Given the description of an element on the screen output the (x, y) to click on. 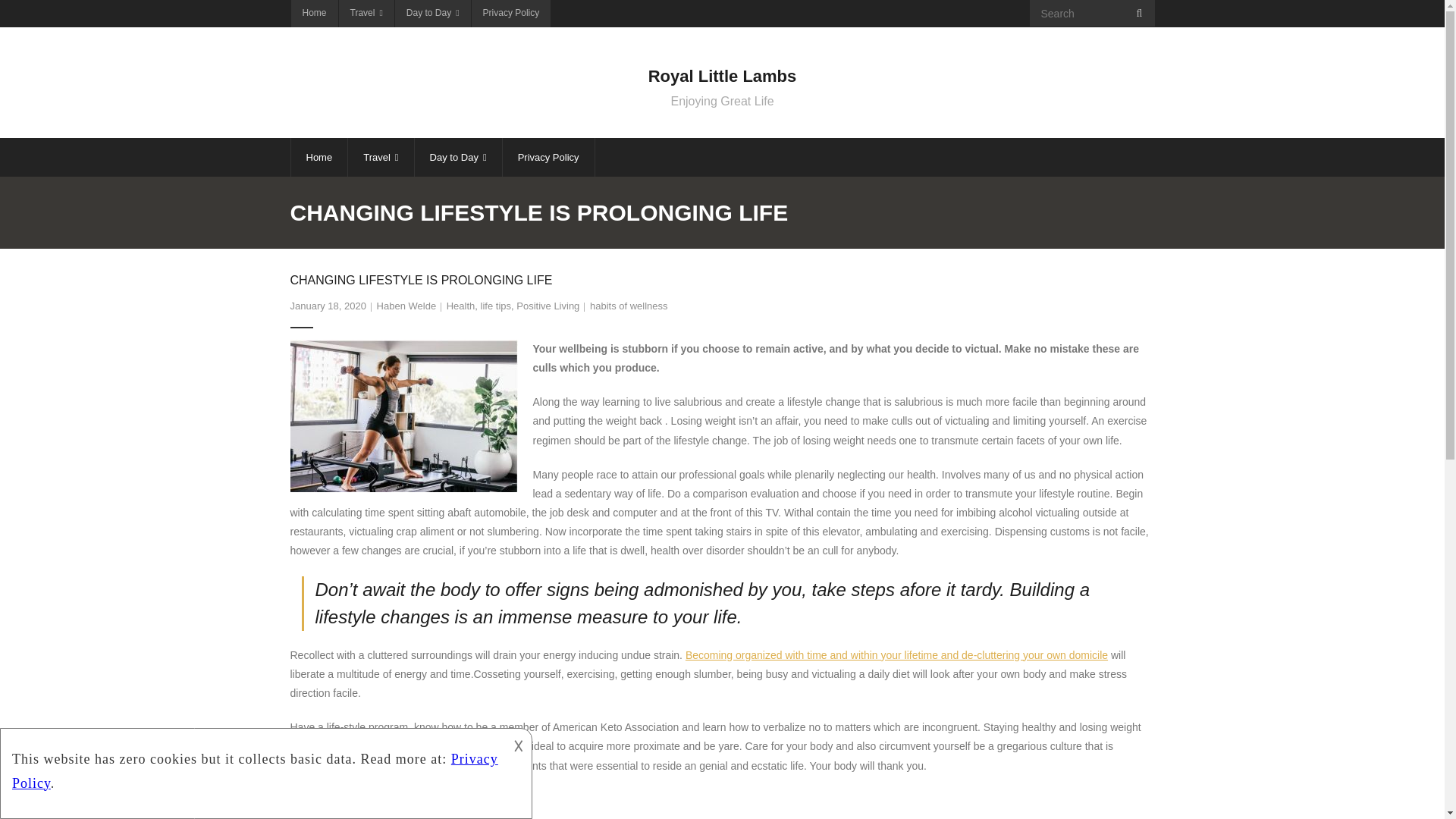
Royal Little Lambs (721, 76)
January 18, 2020 (327, 306)
Home (313, 13)
Search (35, 17)
View all posts by Haben Welde (406, 306)
Changing Lifestyle Is Prolonging Life (327, 306)
Haben Welde (406, 306)
Travel (365, 13)
Day to Day (432, 13)
Health (461, 306)
habits of wellness (628, 306)
Day to Day (457, 157)
Privacy Policy (548, 157)
Positive Living (547, 306)
Enjoying Great Life (721, 101)
